Given the description of an element on the screen output the (x, y) to click on. 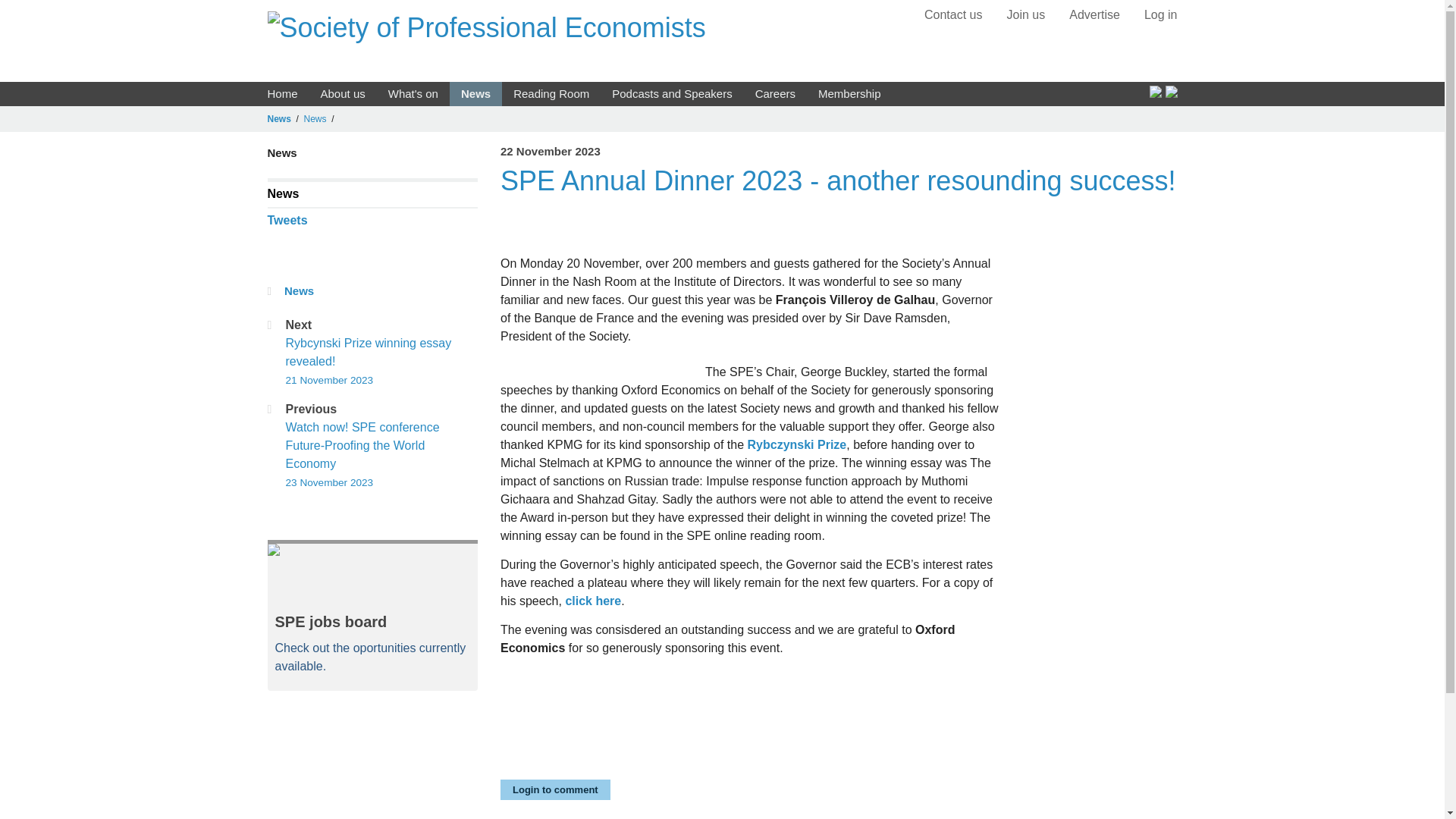
Contact us (952, 14)
Join us (1026, 14)
Log in (1160, 14)
Advertise (1093, 14)
